Given the description of an element on the screen output the (x, y) to click on. 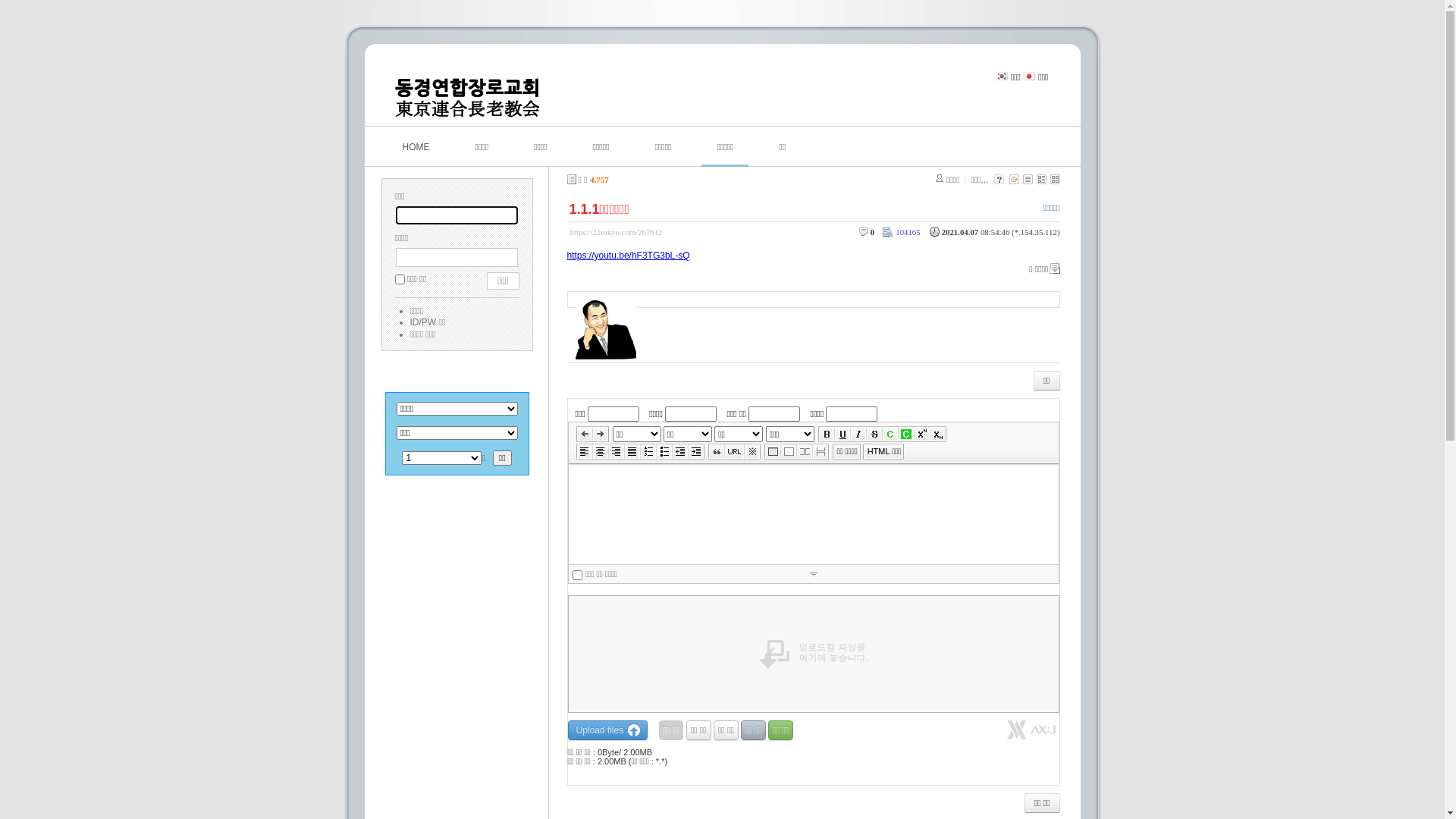
https://youtu.be/hF3TG3bL-sQ Element type: text (628, 255)
0 Element type: text (872, 231)
https://21tokyo.com/267612 Element type: text (616, 231)
HOME Element type: text (415, 146)
Upload files Element type: text (607, 730)
Awesome UI library AXISJ Element type: hover (1031, 734)
